Given the description of an element on the screen output the (x, y) to click on. 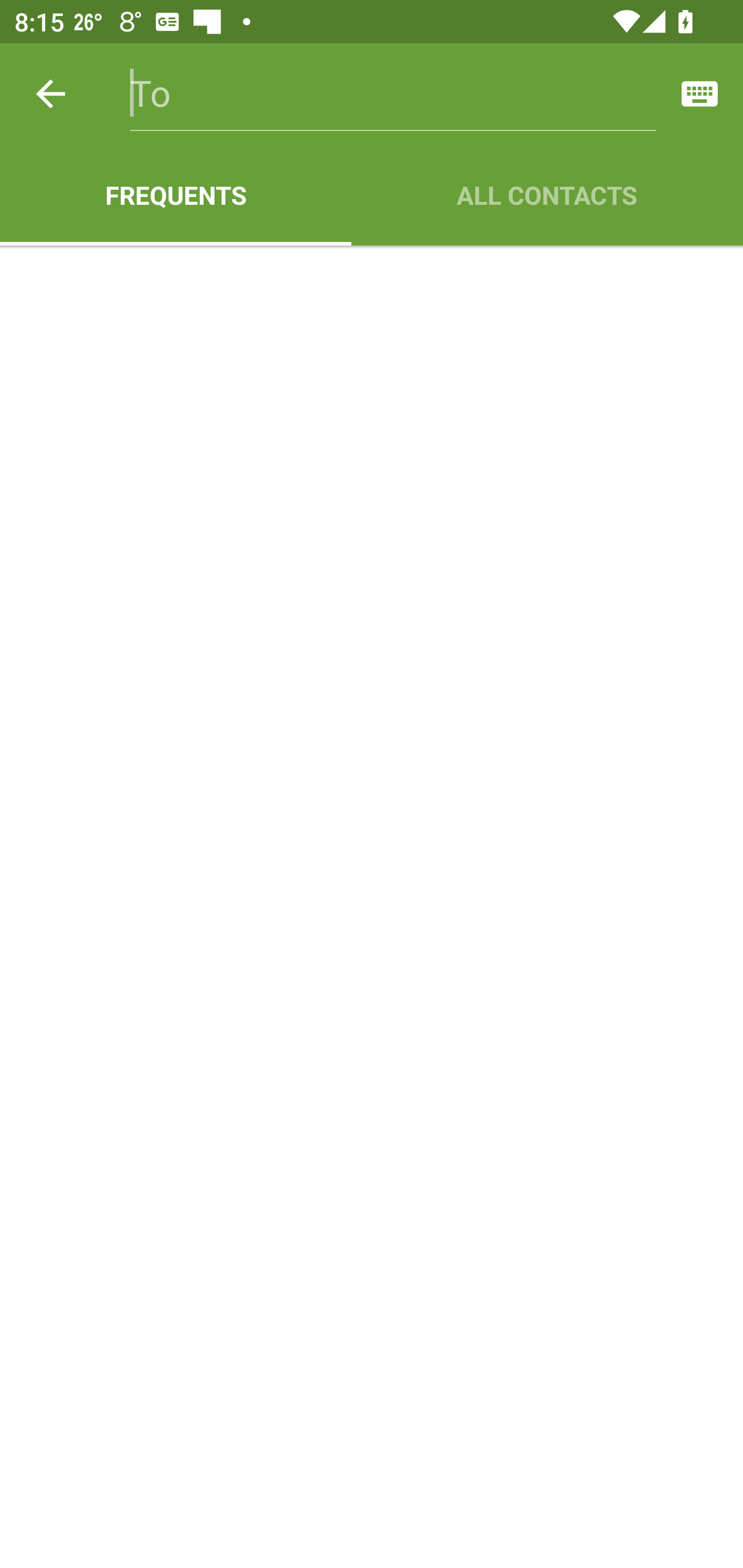
Back (50, 93)
Switch between entering text and numbers (699, 93)
To (393, 93)
FREQUENTS (175, 195)
ALL CONTACTS (547, 195)
